Given the description of an element on the screen output the (x, y) to click on. 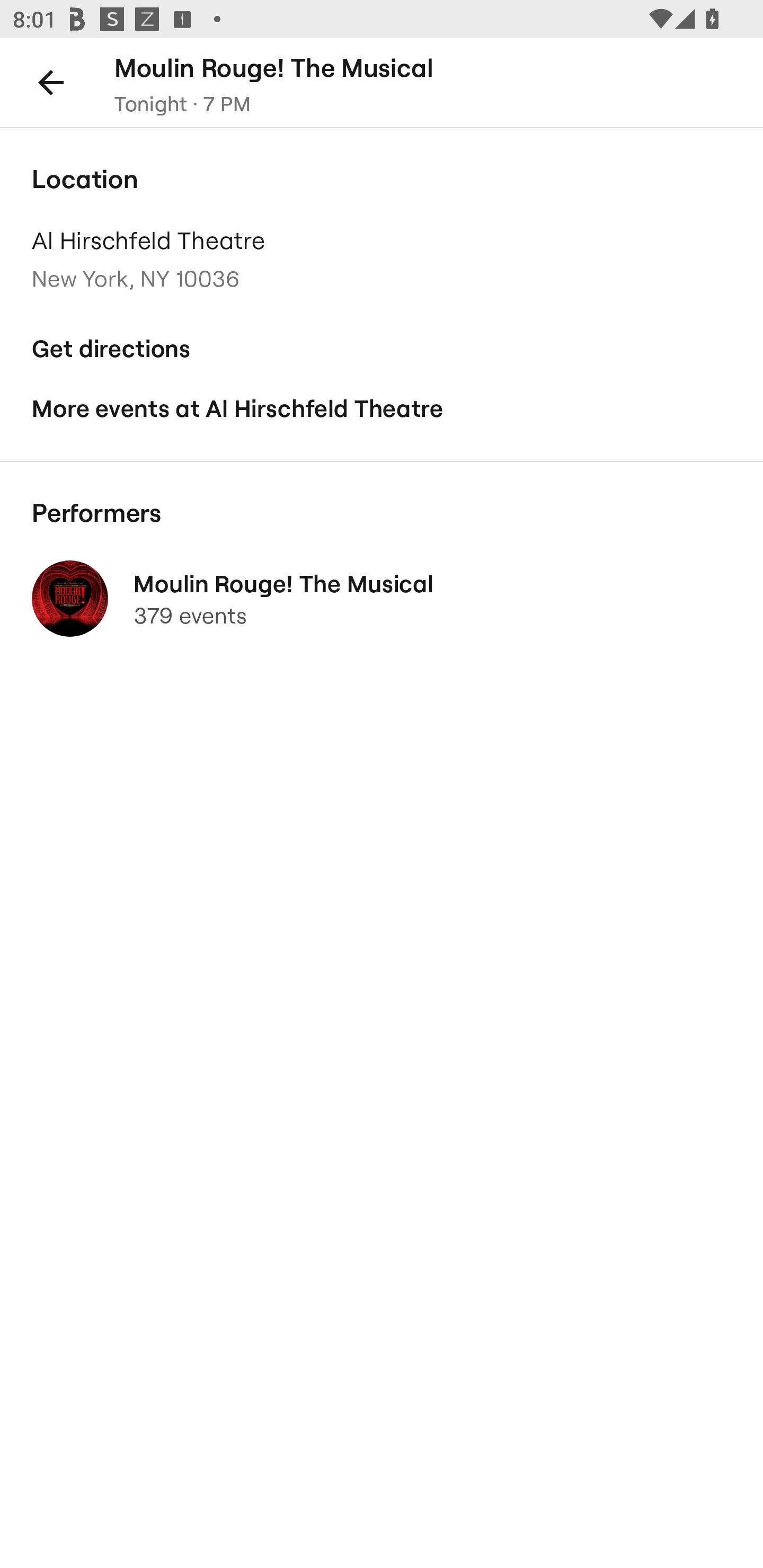
Back (50, 81)
Get directions (381, 348)
More events at Al Hirschfeld Theatre (381, 409)
Moulin Rouge! The Musical 379 events (381, 598)
